Given the description of an element on the screen output the (x, y) to click on. 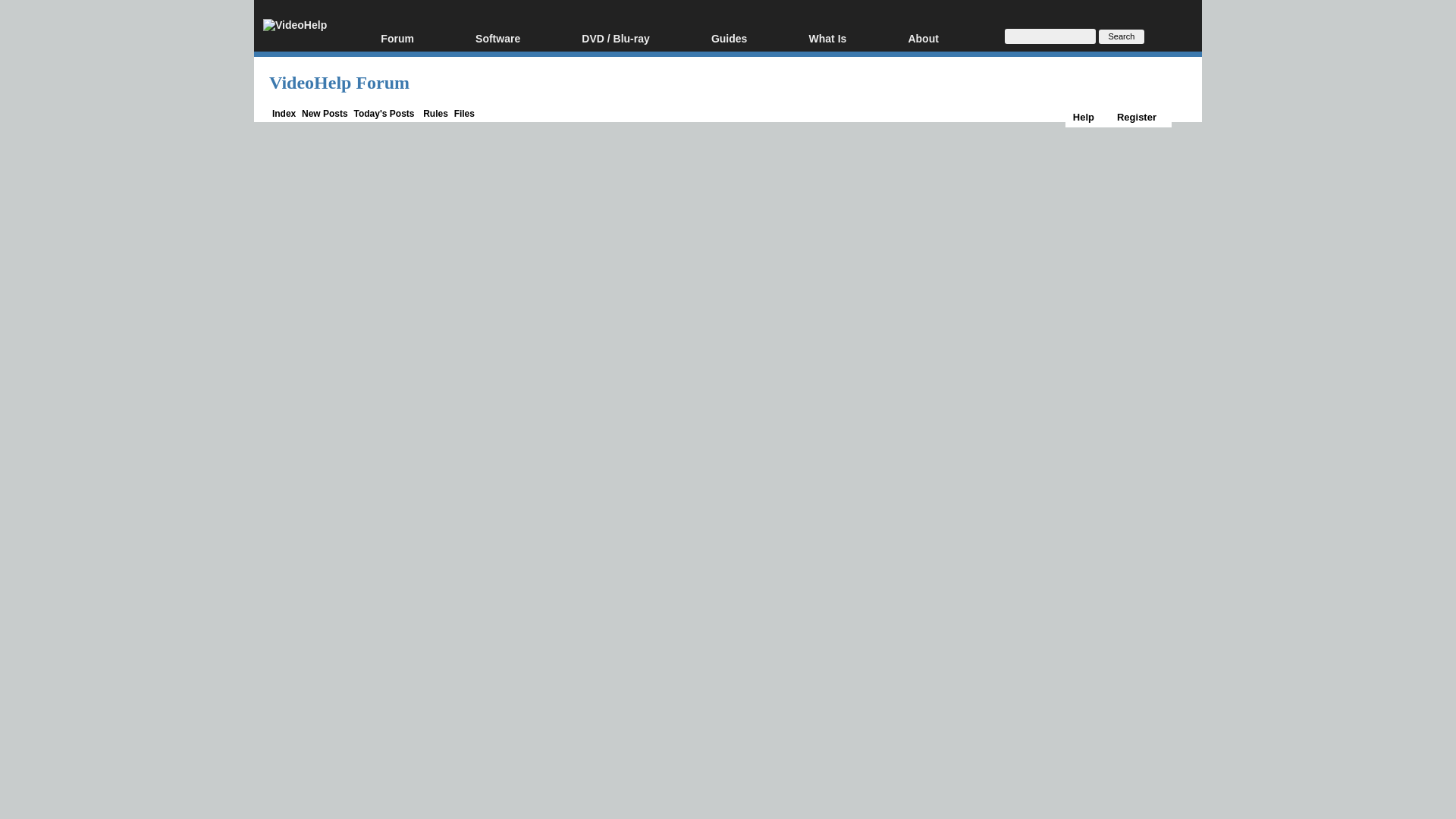
Software (520, 40)
Index (283, 113)
VideoHelp Forum (339, 82)
Search (1121, 35)
Forum (419, 40)
Files (464, 113)
Today's Posts (383, 113)
Guides (751, 40)
VideoHelp (294, 24)
About (945, 40)
